Given the description of an element on the screen output the (x, y) to click on. 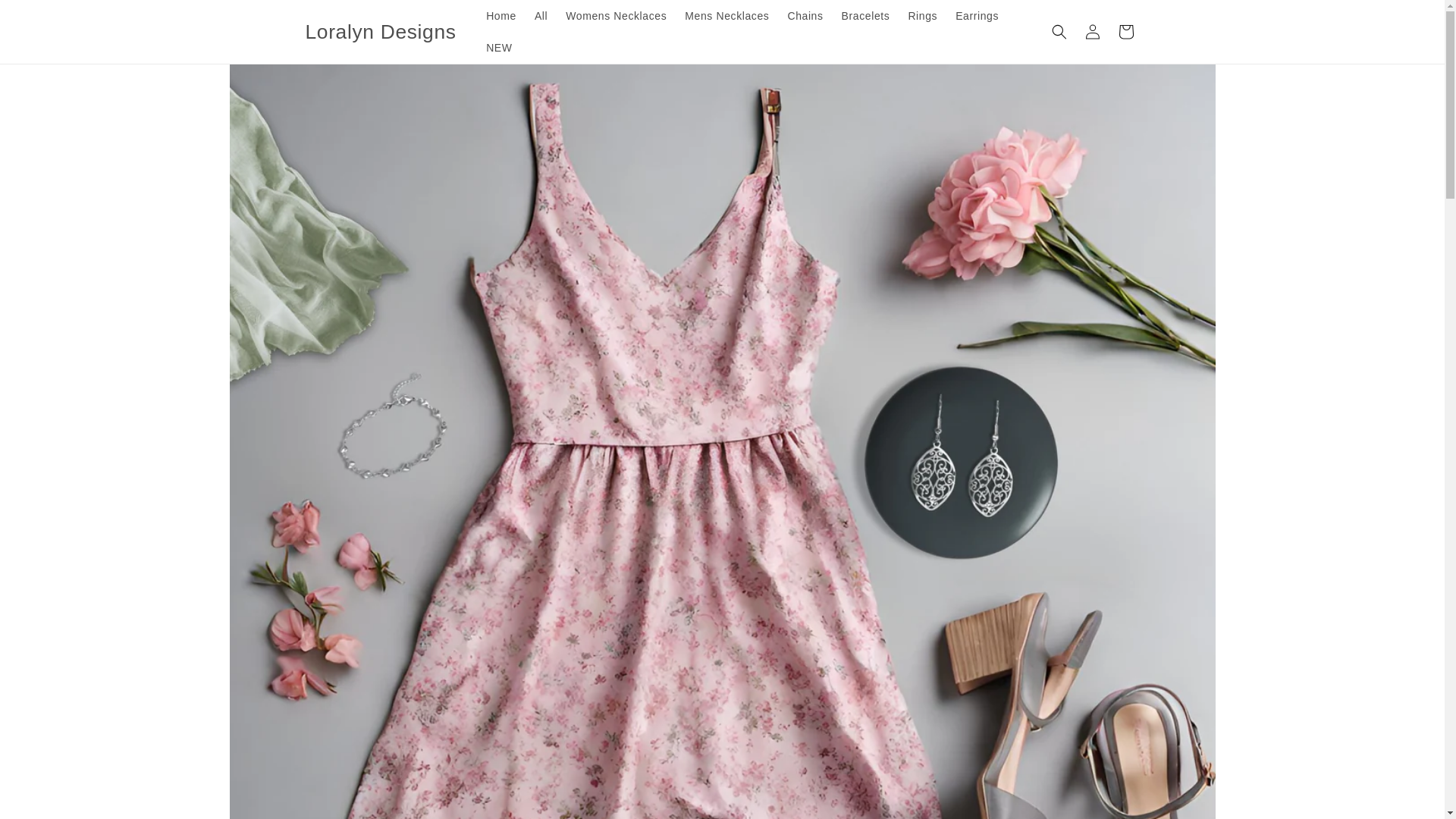
Loralyn Designs (380, 30)
Cart (1124, 31)
Mens Necklaces (726, 15)
Womens Necklaces (615, 15)
All (540, 15)
Home (501, 15)
Earrings (976, 15)
Rings (922, 15)
Bracelets (865, 15)
NEW (499, 47)
Chains (804, 15)
Skip to content (47, 18)
Log in (1091, 31)
